Given the description of an element on the screen output the (x, y) to click on. 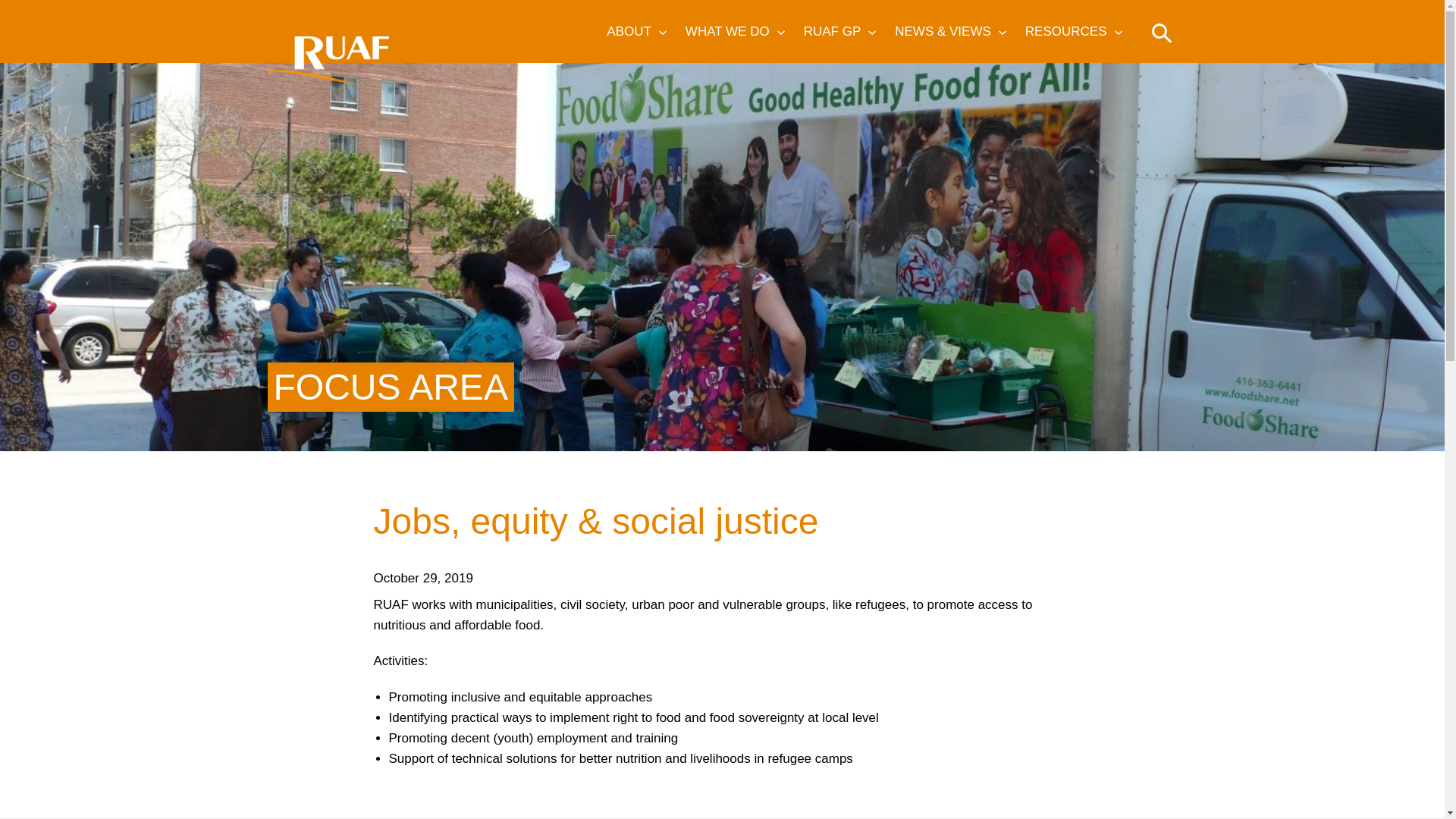
WHAT WE DO (719, 31)
RUAF GP (825, 31)
RESOURCES (1058, 31)
ABOUT (620, 31)
